Given the description of an element on the screen output the (x, y) to click on. 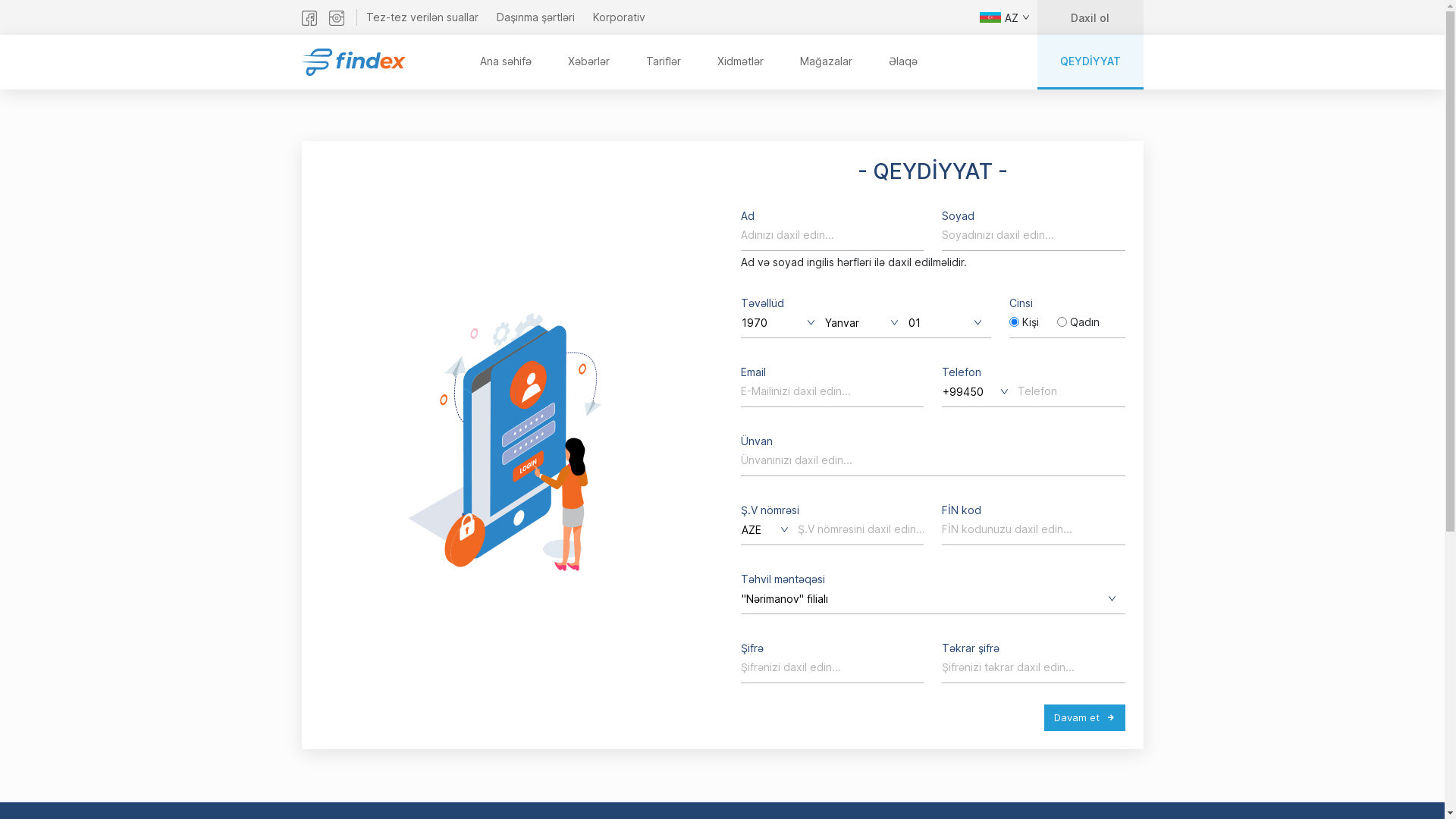
Daxil ol Element type: text (1090, 17)
QEYDIYYAT Element type: text (1090, 61)
Korporativ Element type: text (619, 16)
Davam et Element type: text (1083, 717)
